Given the description of an element on the screen output the (x, y) to click on. 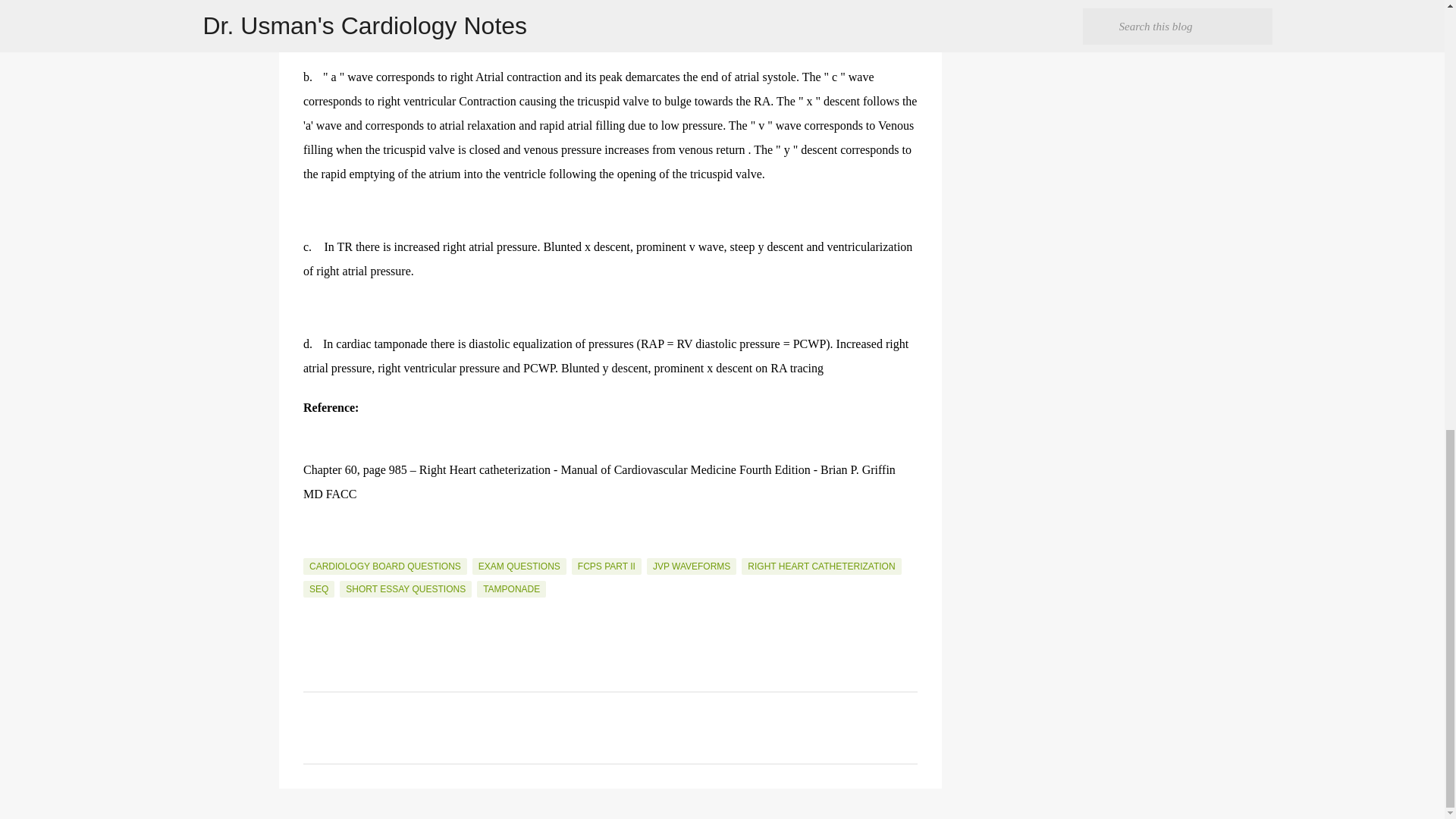
SEQ (318, 588)
RIGHT HEART CATHETERIZATION (821, 565)
CARDIOLOGY BOARD QUESTIONS (384, 565)
EXAM QUESTIONS (518, 565)
FCPS PART II (607, 565)
JVP WAVEFORMS (691, 565)
SHORT ESSAY QUESTIONS (405, 588)
TAMPONADE (511, 588)
